Given the description of an element on the screen output the (x, y) to click on. 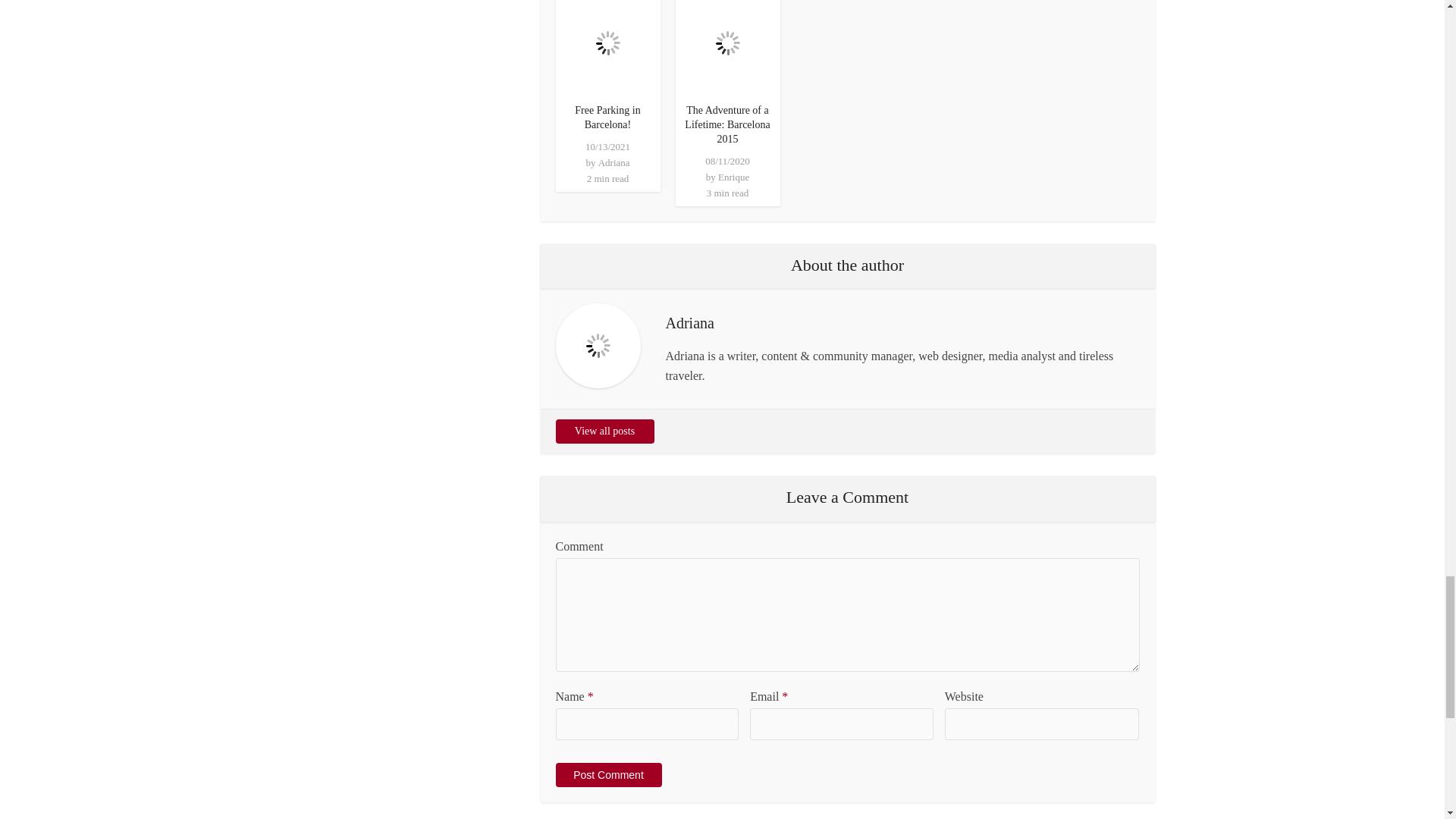
Post Comment (607, 774)
